Given the description of an element on the screen output the (x, y) to click on. 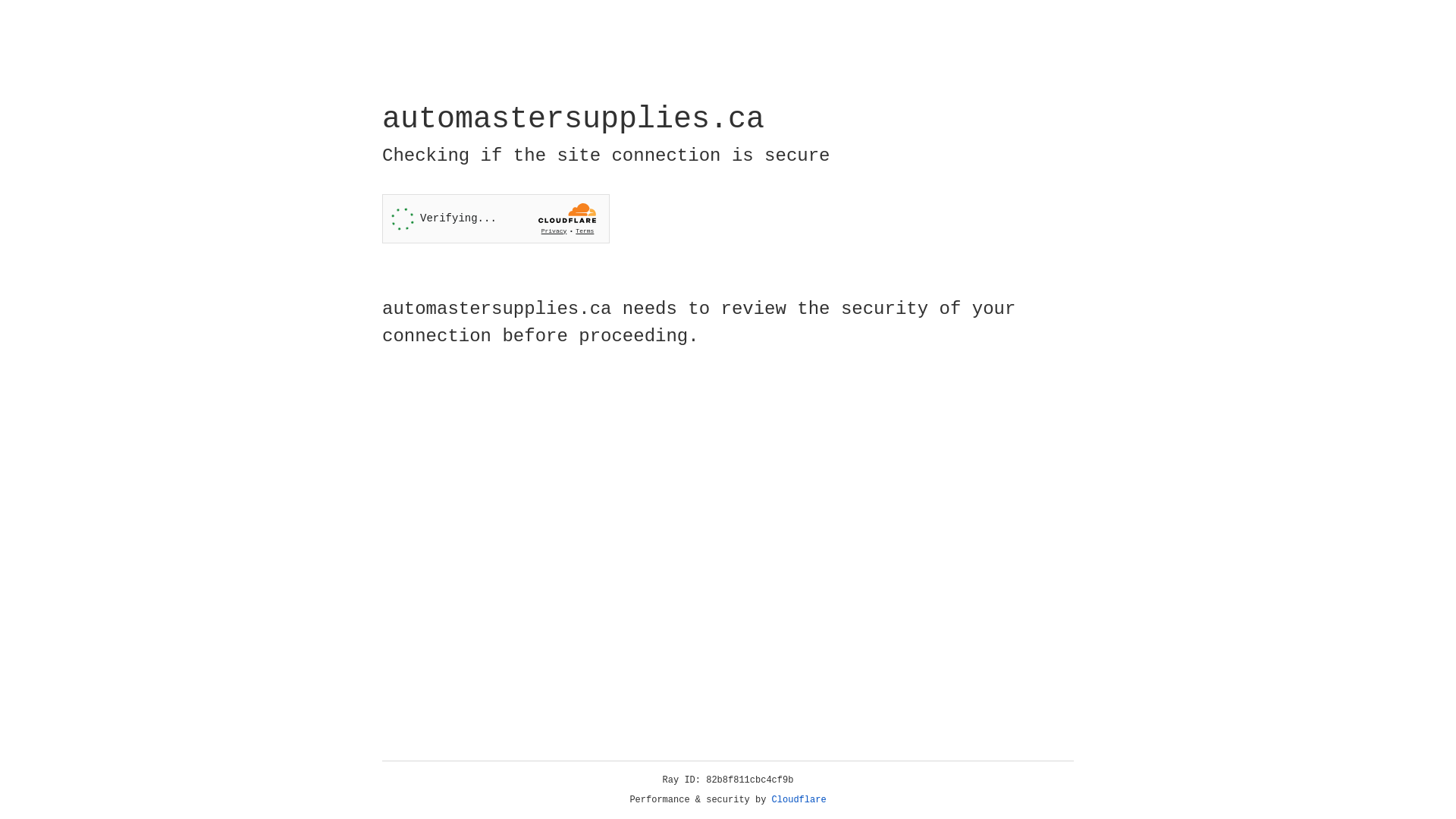
Cloudflare Element type: text (798, 799)
Widget containing a Cloudflare security challenge Element type: hover (495, 218)
